Given the description of an element on the screen output the (x, y) to click on. 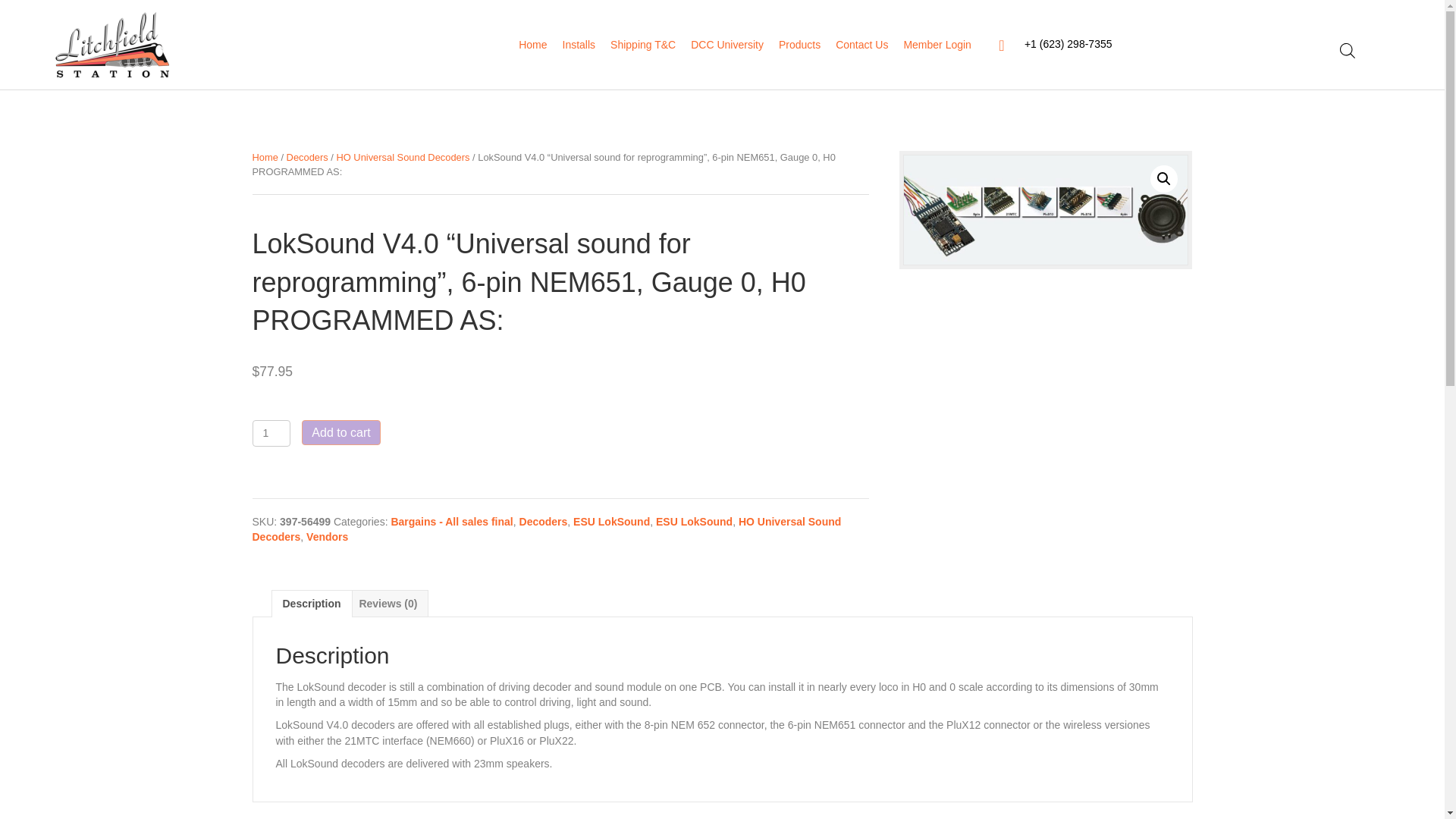
Description (311, 603)
Home (264, 156)
Add to cart (340, 432)
Bargains - All sales final (451, 521)
Contact Us (861, 44)
Litchfield Station (111, 44)
ESU LokSound (694, 521)
DCC University (726, 44)
Decoders (307, 156)
Member Login (936, 44)
Vendors (326, 536)
1 (270, 433)
Installs (579, 44)
ESU LokSound (611, 521)
Decoders (543, 521)
